Given the description of an element on the screen output the (x, y) to click on. 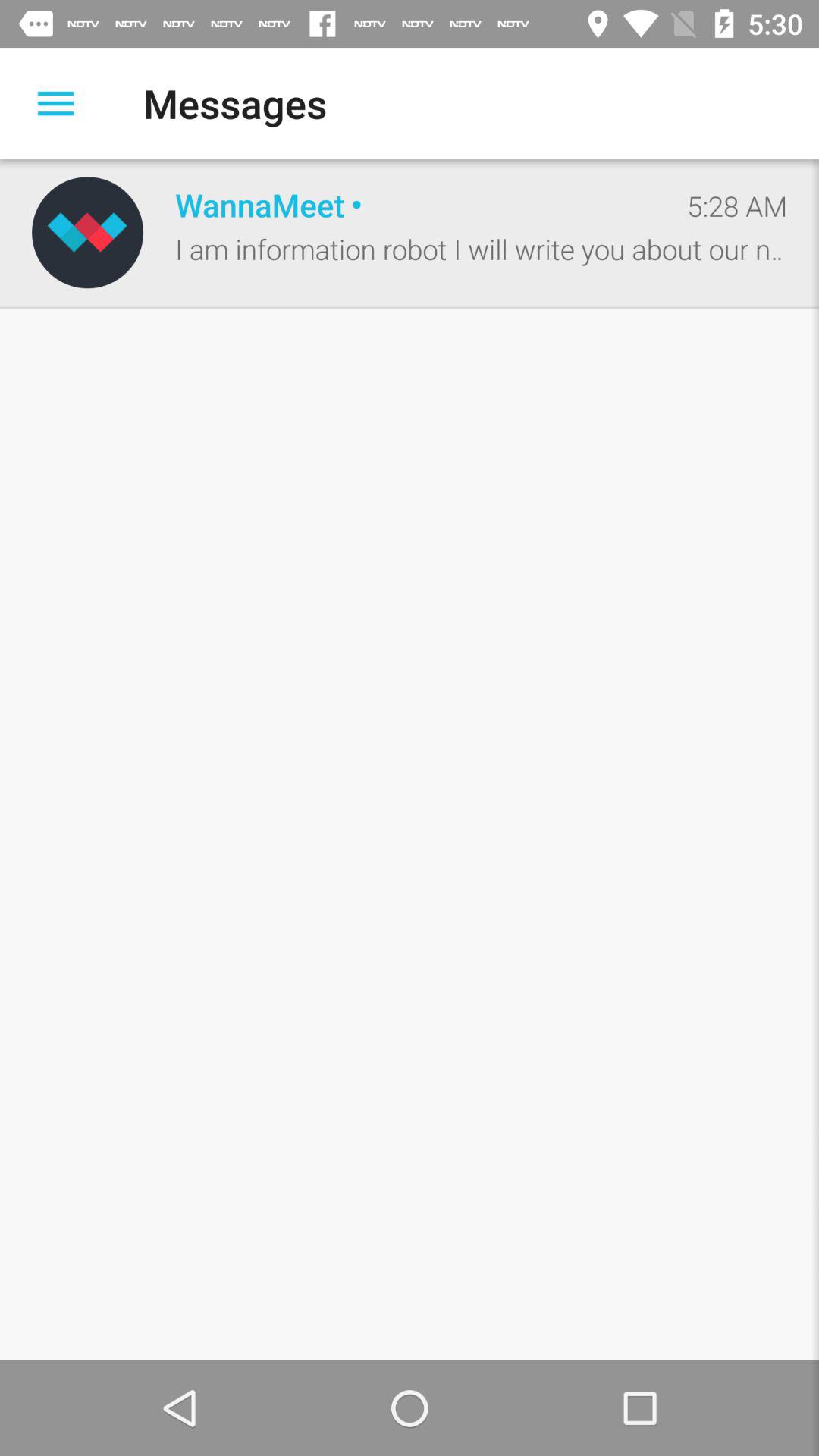
choose icon at the top right corner (737, 205)
